Given the description of an element on the screen output the (x, y) to click on. 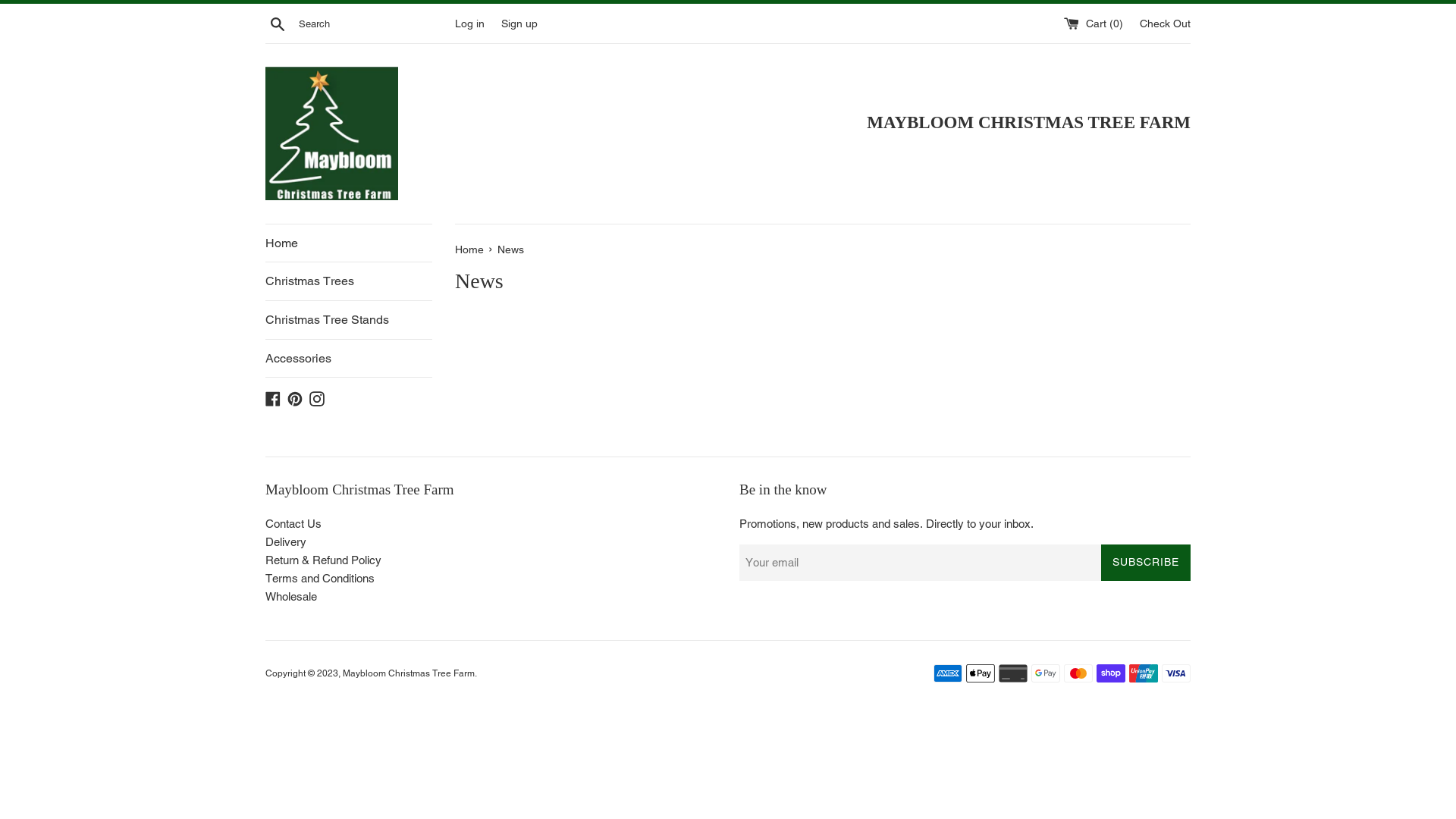
Facebook Element type: text (272, 397)
Christmas Trees Element type: text (348, 281)
Maybloom Christmas Tree Farm Element type: text (408, 673)
Sign up Element type: text (519, 22)
Home Element type: text (470, 249)
SUBSCRIBE Element type: text (1145, 562)
Wholesale Element type: text (290, 595)
Check Out Element type: text (1164, 22)
Accessories Element type: text (348, 358)
Return & Refund Policy Element type: text (323, 559)
Contact Us Element type: text (293, 523)
Instagram Element type: text (316, 397)
Pinterest Element type: text (294, 397)
Cart (0) Element type: text (1094, 22)
Terms and Conditions Element type: text (319, 577)
Home Element type: text (348, 243)
Christmas Tree Stands Element type: text (348, 319)
Search Element type: text (277, 23)
Log in Element type: text (469, 22)
Delivery Element type: text (285, 541)
